Given the description of an element on the screen output the (x, y) to click on. 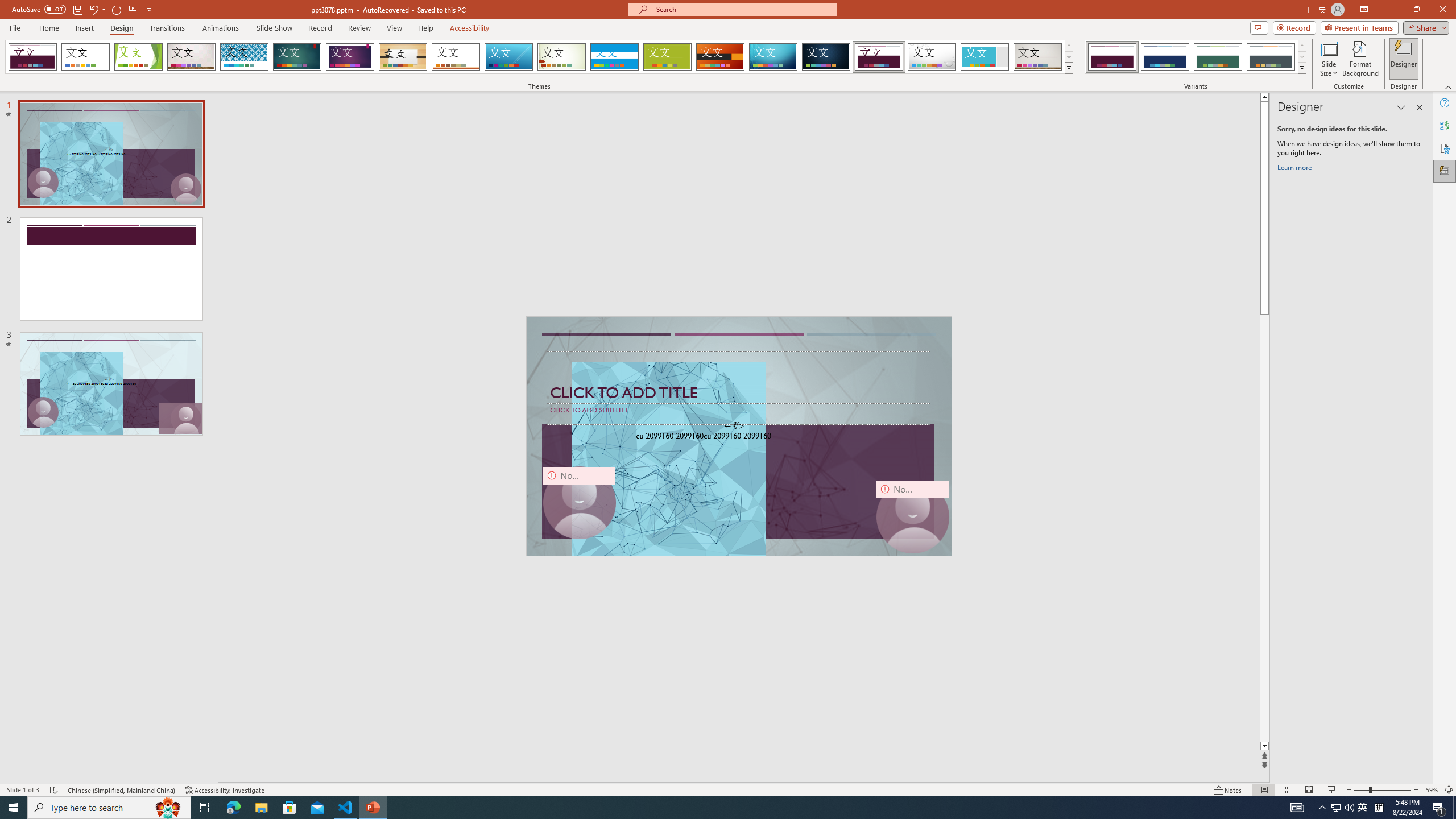
Berlin (720, 56)
Slice (508, 56)
Retrospect (455, 56)
